Given the description of an element on the screen output the (x, y) to click on. 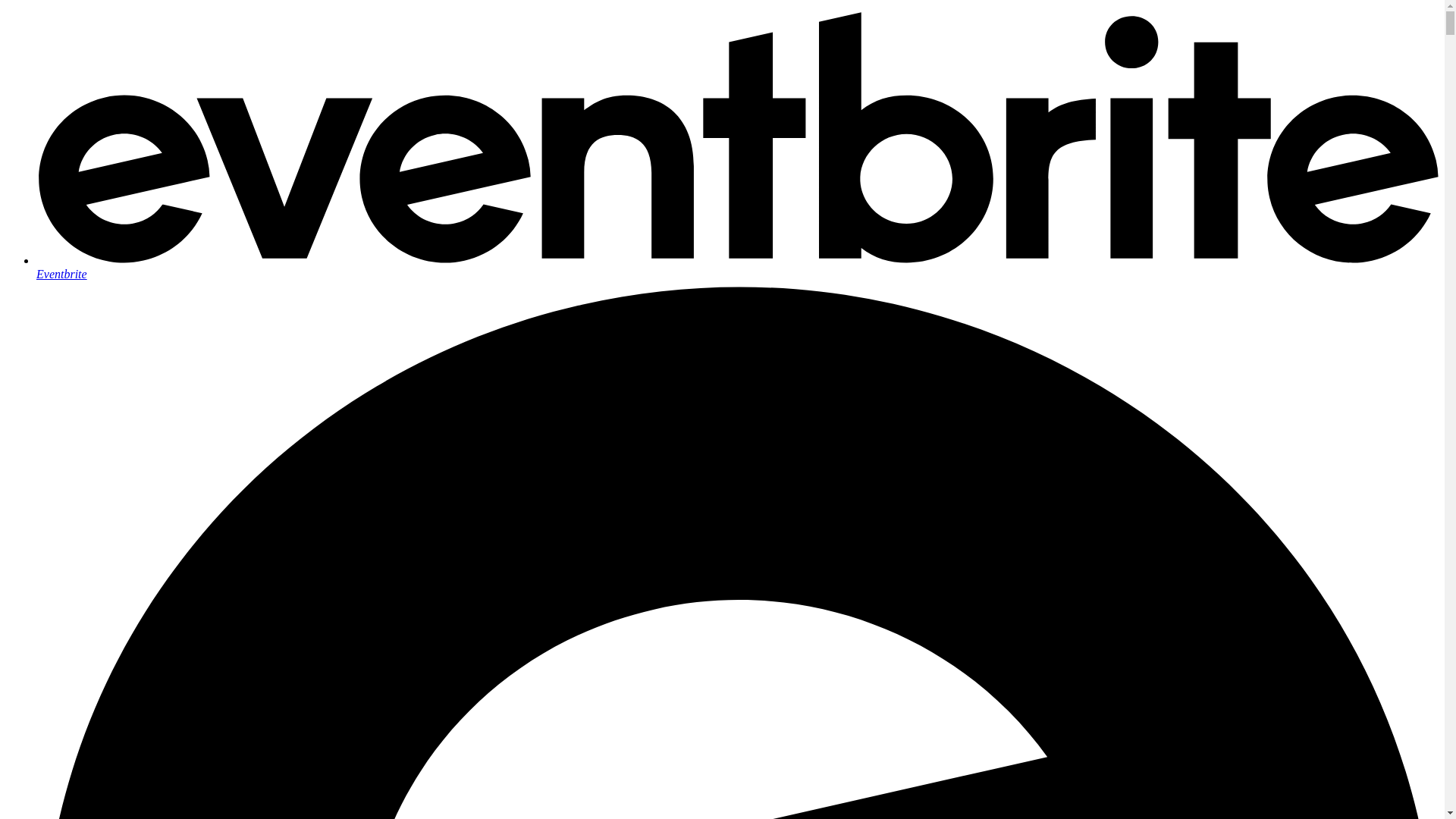
Eventbrite Element type: text (737, 267)
